Given the description of an element on the screen output the (x, y) to click on. 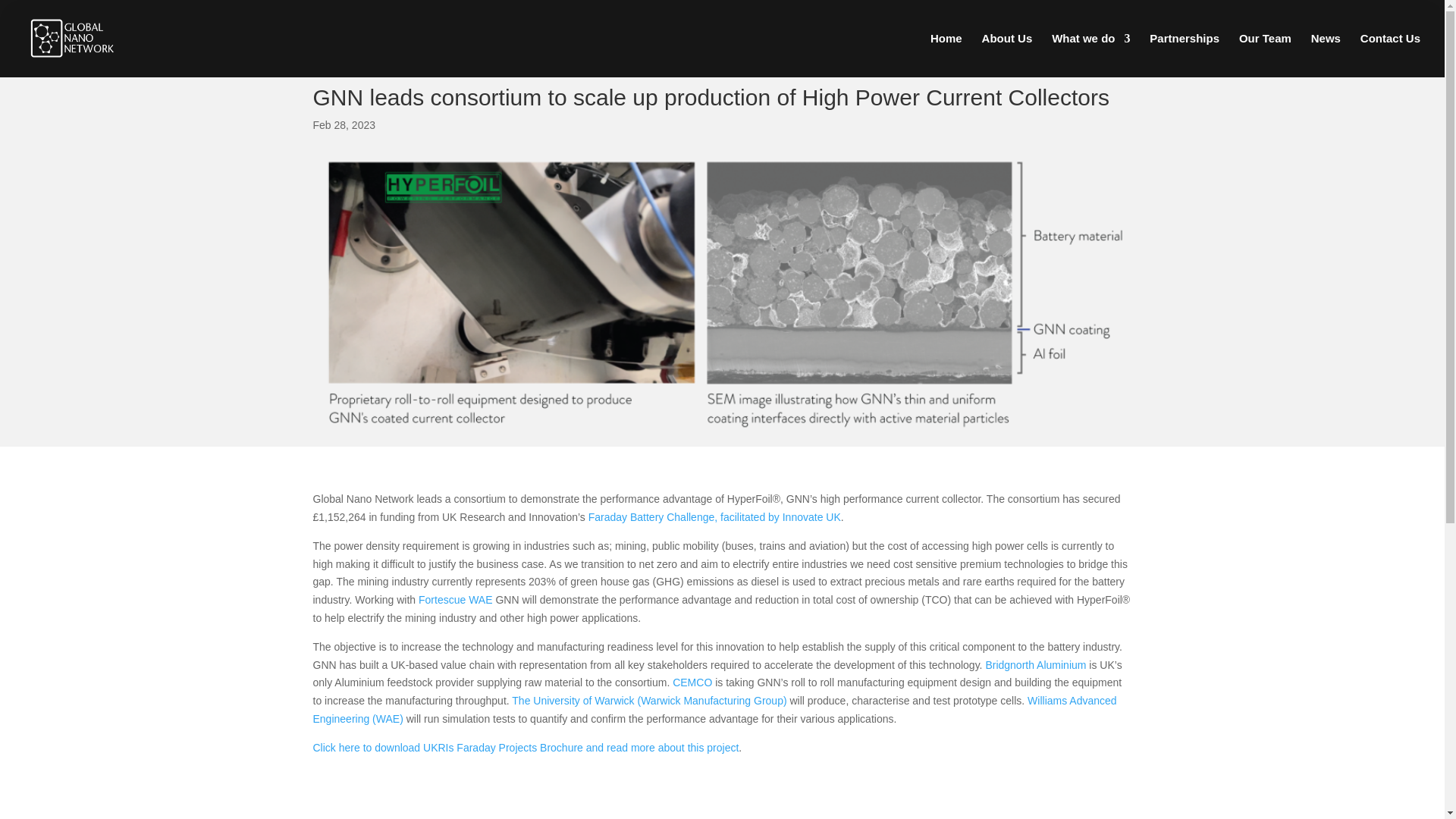
Fortescue WAE (457, 599)
Faraday Battery Challenge, facilitated by Innovate UK (714, 517)
CEMCO (693, 682)
Contact Us (1390, 54)
About Us (1006, 54)
What we do (1090, 54)
Partnerships (1185, 54)
Bridgnorth Aluminium (1037, 664)
Our Team (1265, 54)
